Given the description of an element on the screen output the (x, y) to click on. 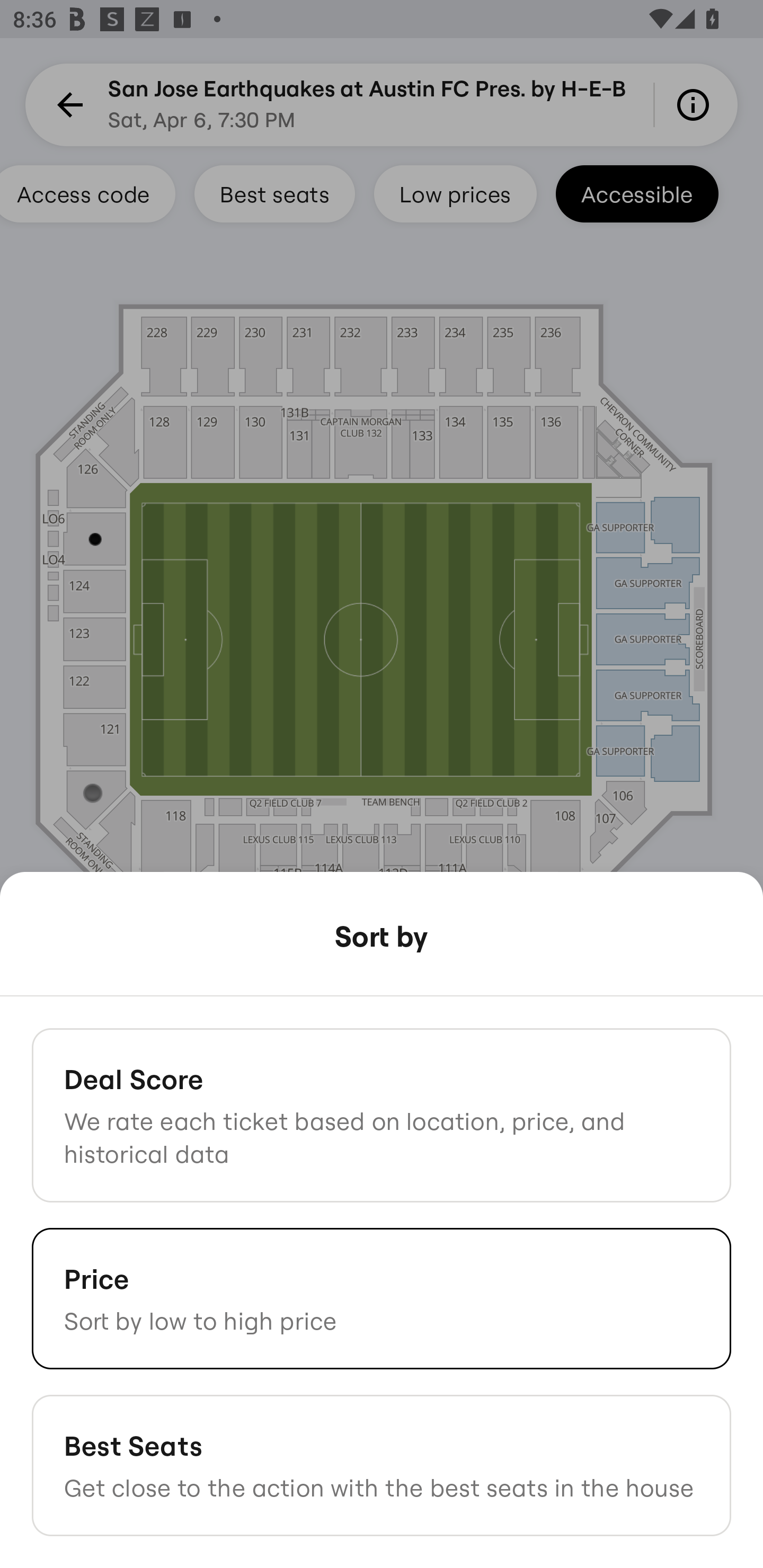
Price Sort by low to high price (381, 1297)
